Given the description of an element on the screen output the (x, y) to click on. 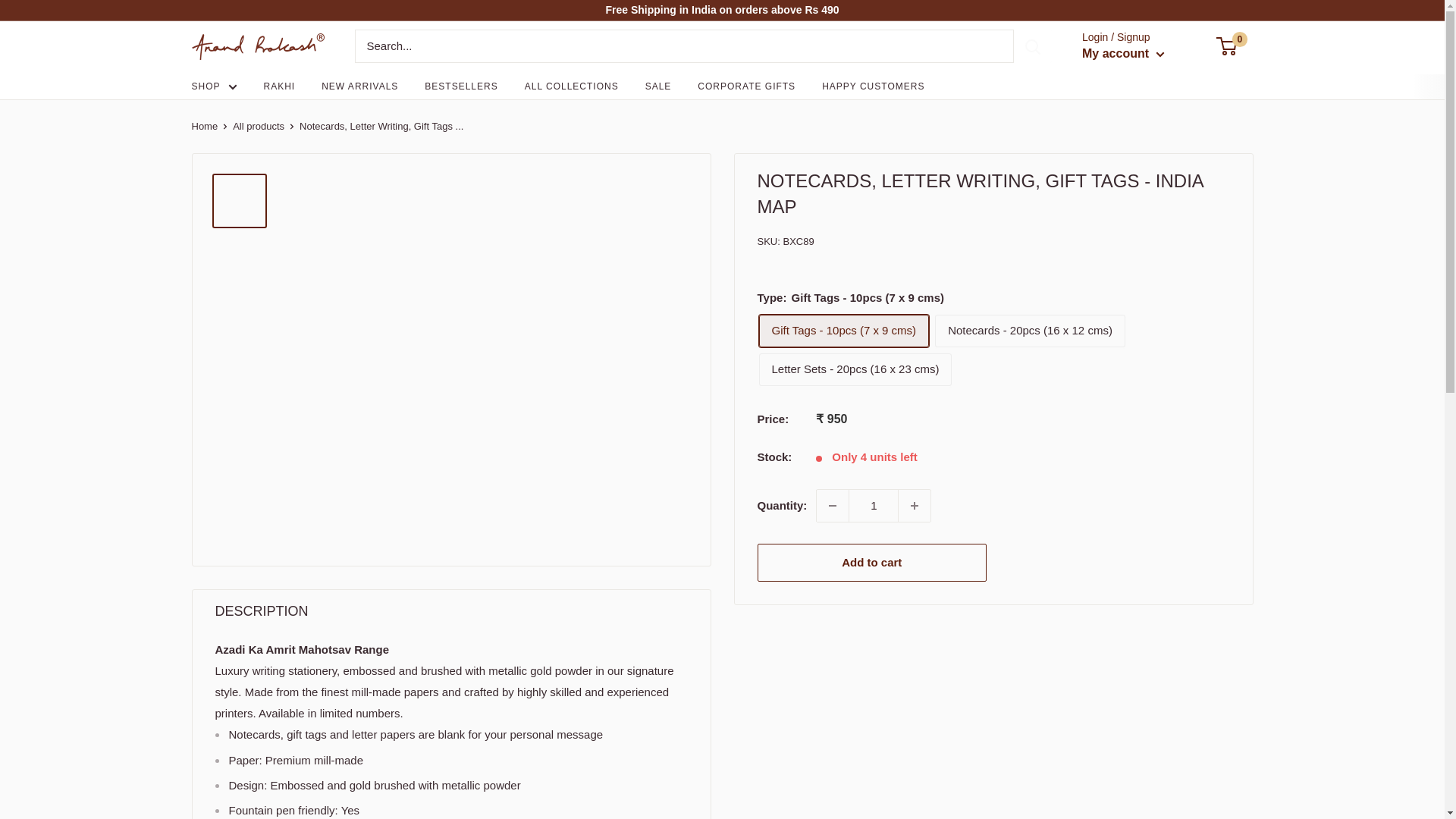
1 (873, 505)
Increase quantity by 1 (914, 505)
Decrease quantity by 1 (831, 505)
